Given the description of an element on the screen output the (x, y) to click on. 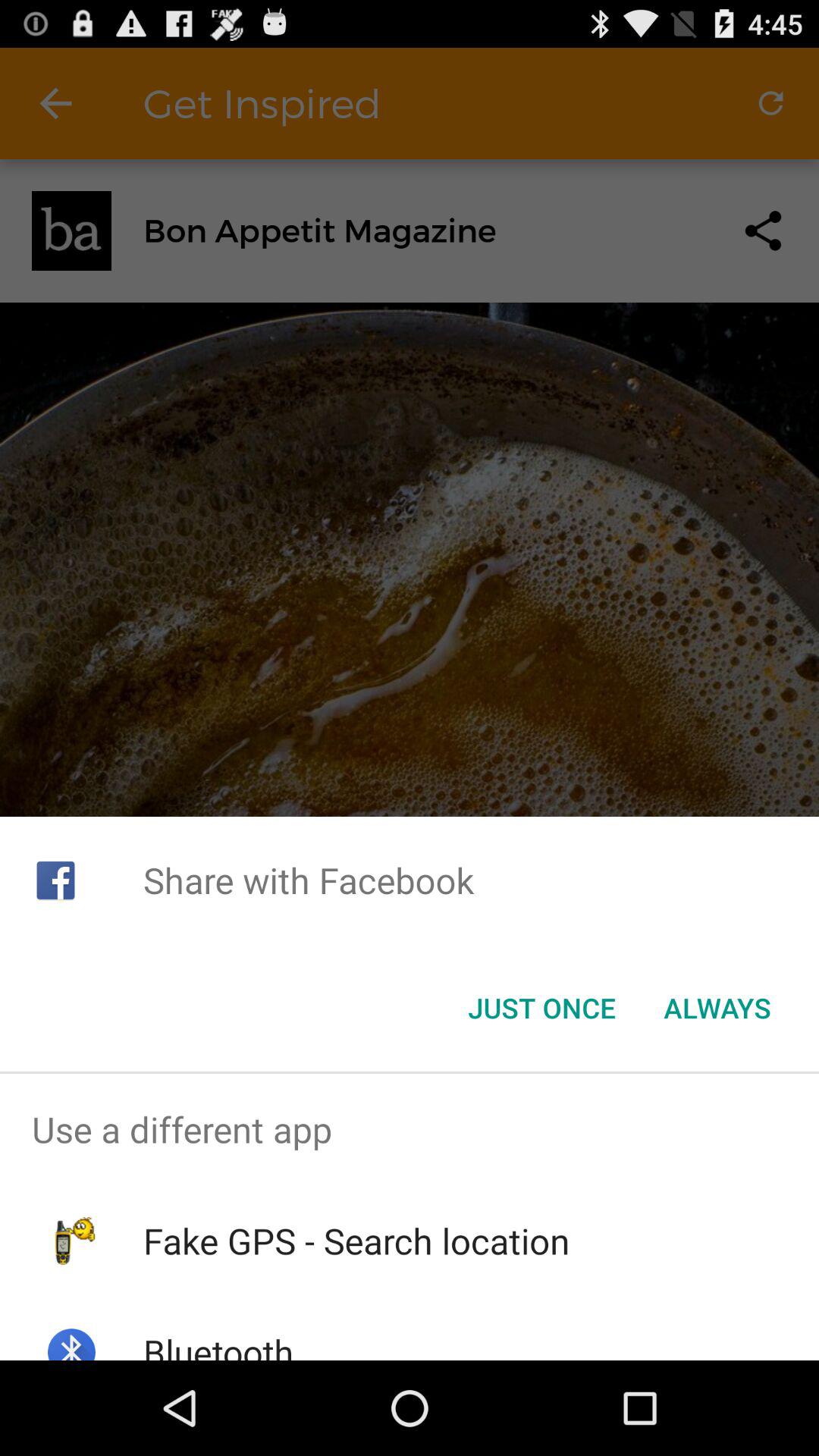
jump until just once (541, 1007)
